Given the description of an element on the screen output the (x, y) to click on. 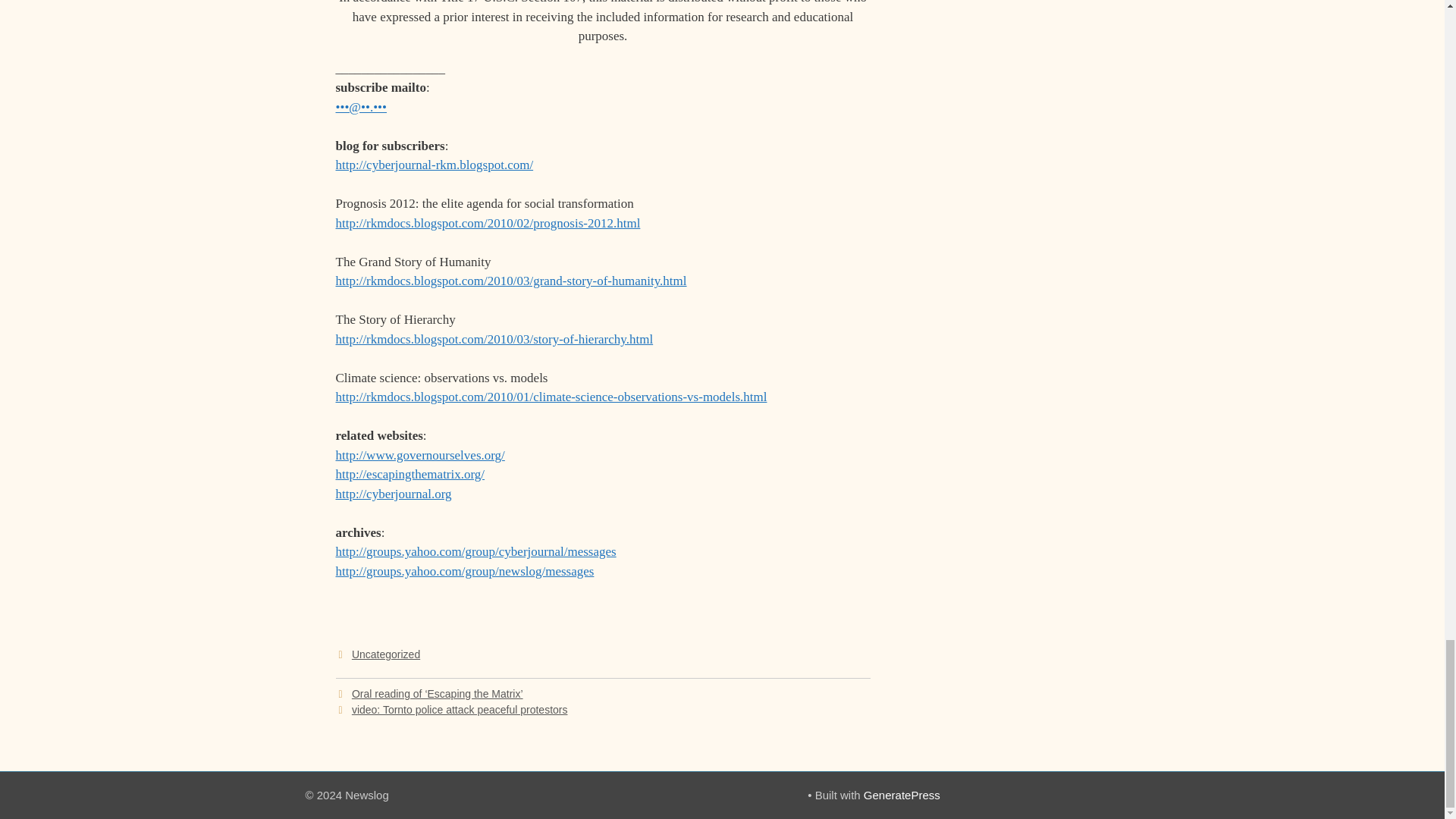
GeneratePress (901, 794)
video: Tornto police attack peaceful protestors (459, 709)
Uncategorized (386, 654)
